Given the description of an element on the screen output the (x, y) to click on. 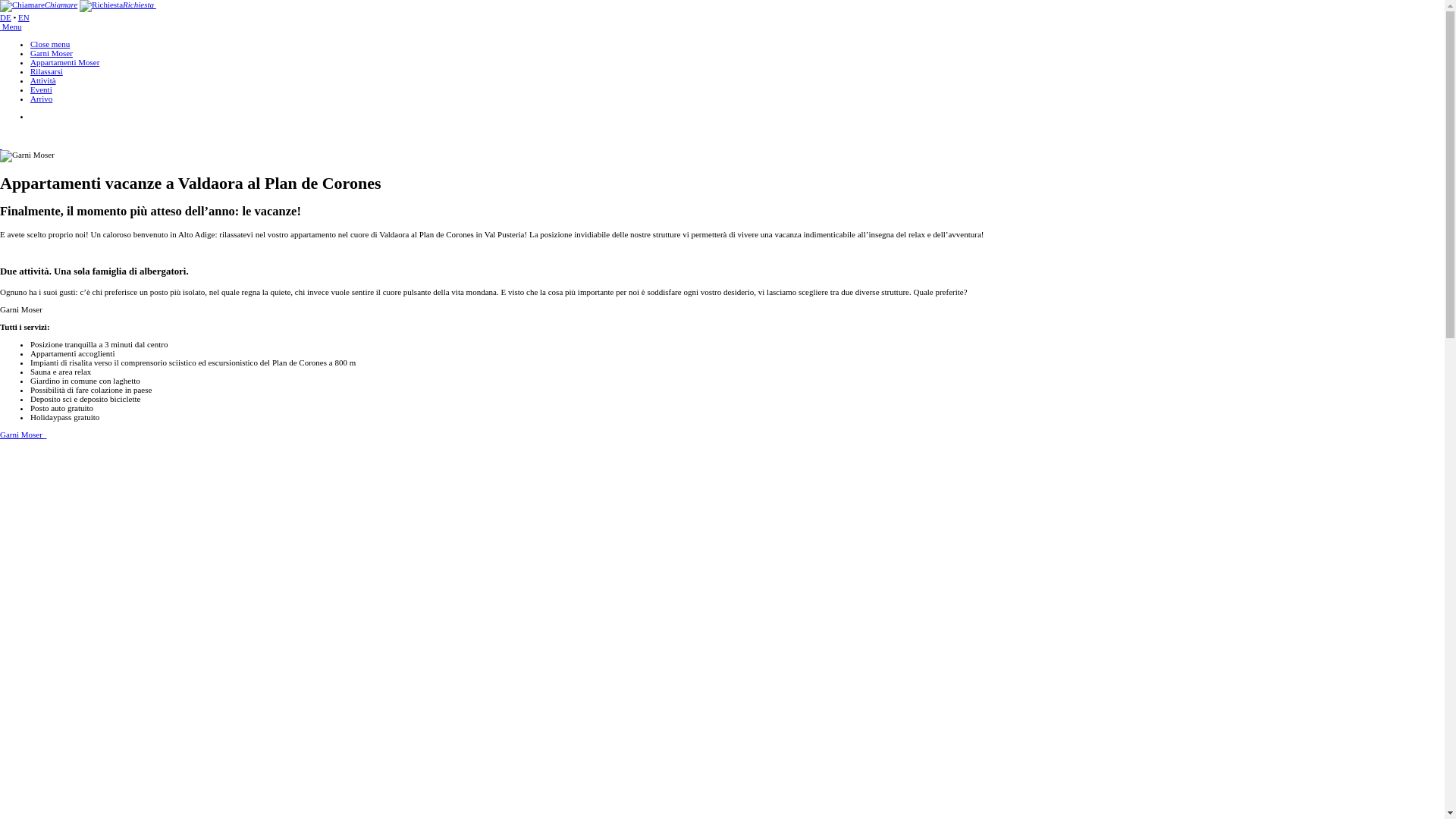
DE Element type: text (5, 16)
Eventi Element type: text (41, 89)
Chiamare Element type: text (38, 4)
Arrivo Element type: text (41, 98)
Rilassarsi Element type: text (46, 70)
Close menu Element type: text (49, 43)
EN Element type: text (23, 16)
Appartamenti Moser Element type: text (64, 61)
 Menu Element type: text (10, 26)
Richiesta  Element type: text (117, 4)
Garni Moser Element type: text (51, 52)
Garni Moser   Element type: text (23, 434)
  Element type: text (1, 145)
